Given the description of an element on the screen output the (x, y) to click on. 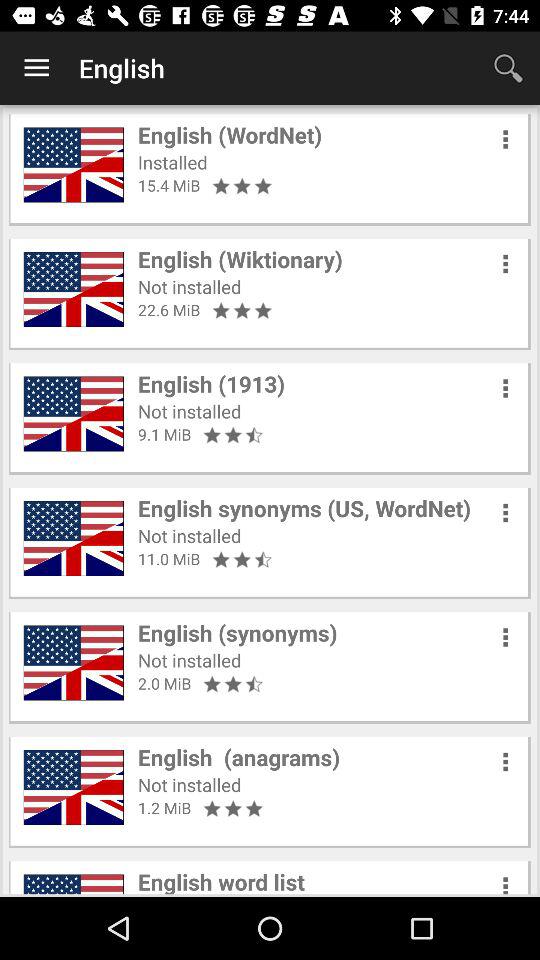
tap the english  (anagrams) icon (239, 757)
